Given the description of an element on the screen output the (x, y) to click on. 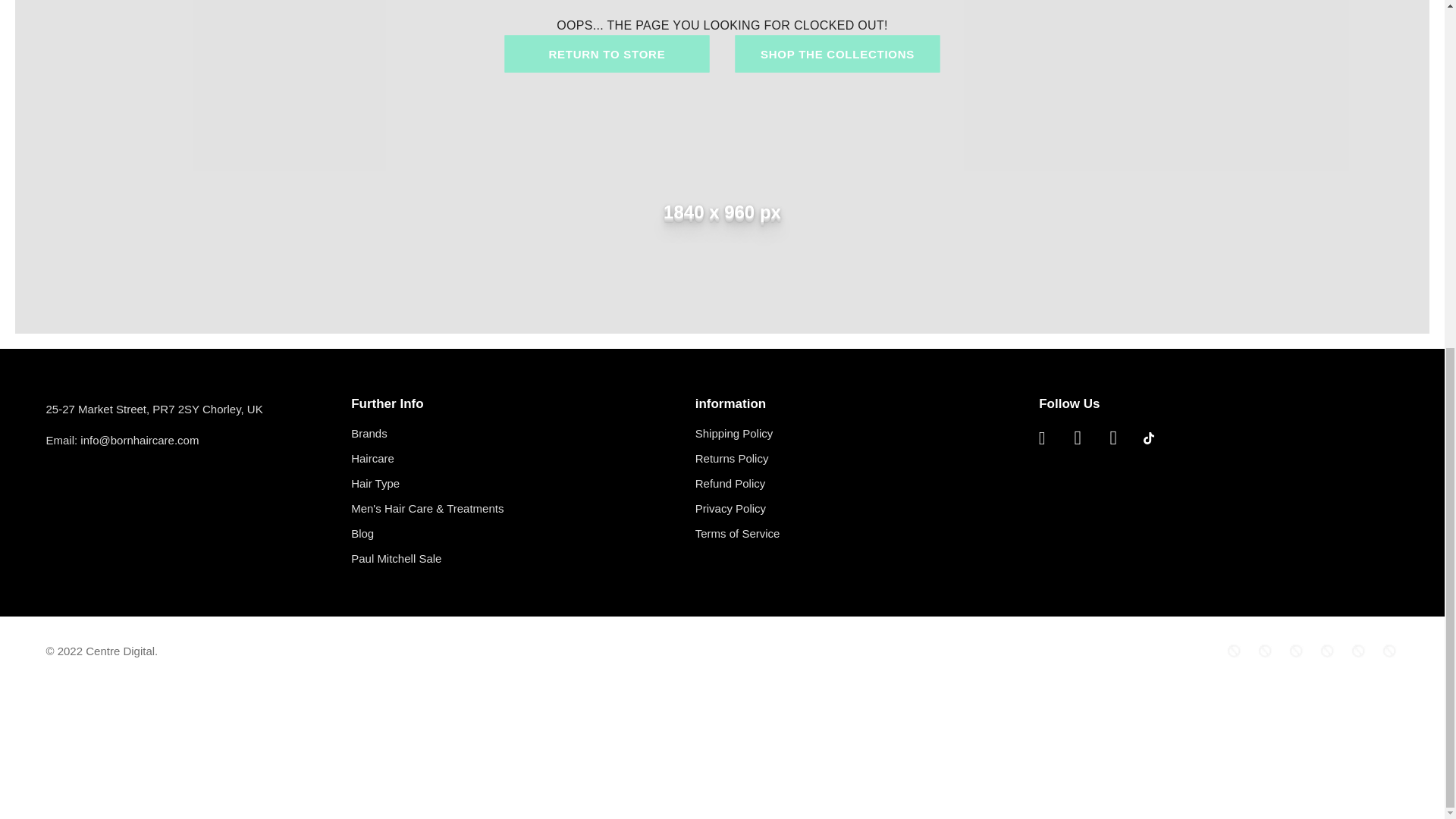
Hair Type (374, 483)
Haircare (372, 457)
Brands (368, 432)
Paul Mitchell Sale (395, 558)
Shipping Policy (734, 432)
RETURN TO STORE (606, 54)
Brands (368, 432)
Hair Type (374, 483)
Refund Policy (730, 483)
Haircare (372, 457)
